Given the description of an element on the screen output the (x, y) to click on. 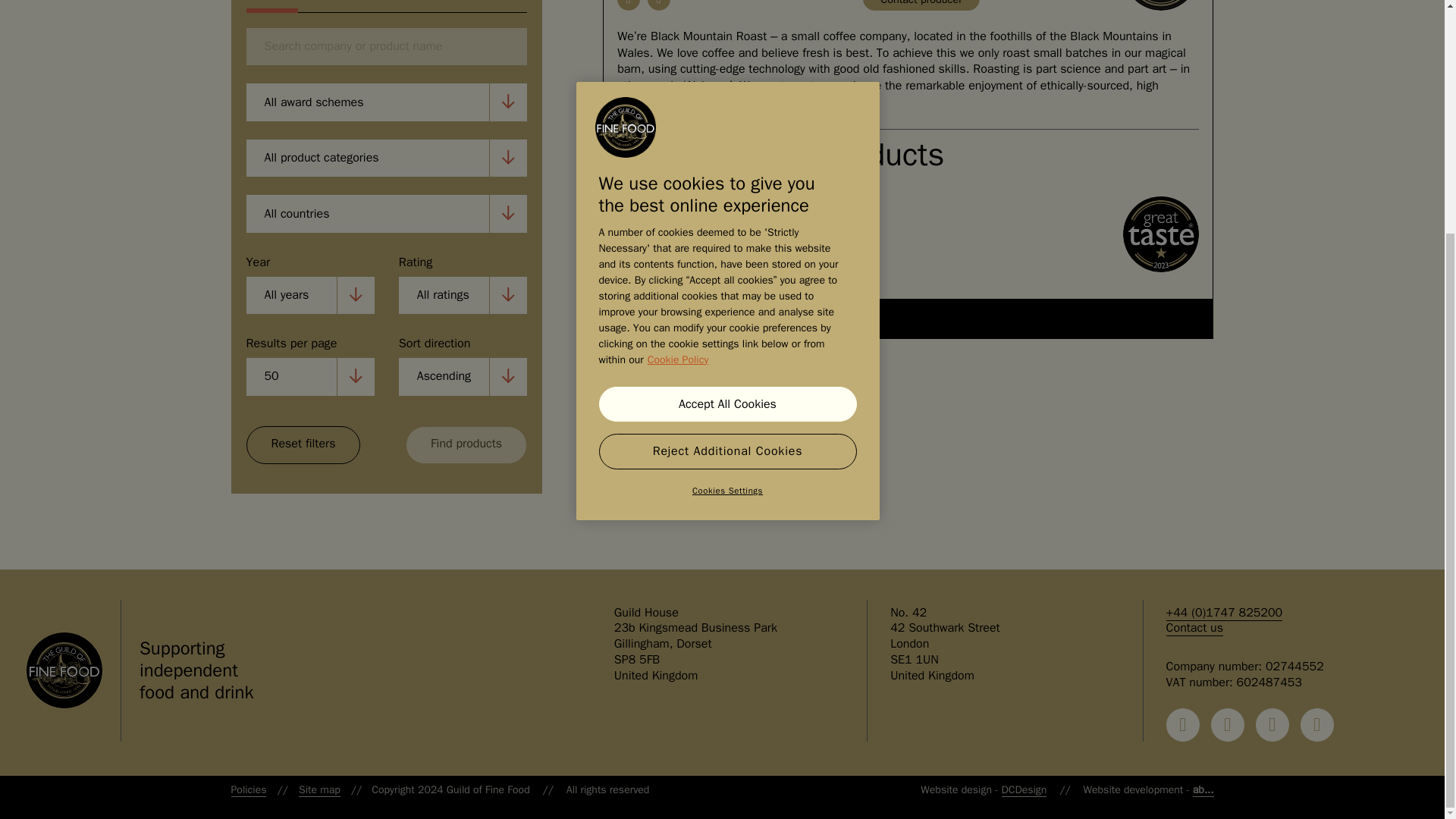
Site map (319, 789)
Policies (248, 789)
